Given the description of an element on the screen output the (x, y) to click on. 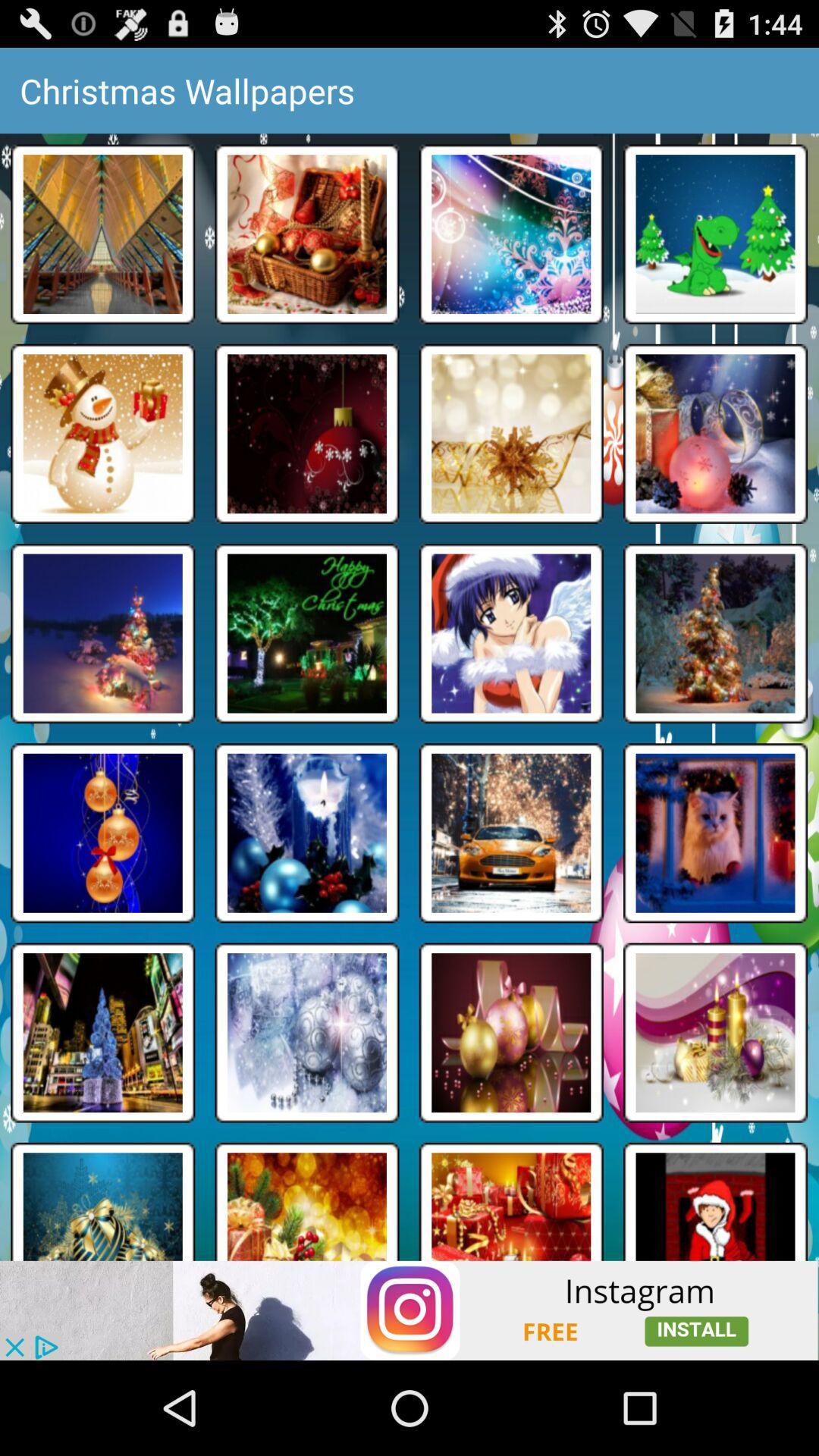
click on the wallpaper which has pink colored jingle bell in it (715, 433)
go to the fourteenth image (306, 833)
click the third box in first row (510, 234)
select the third row fourth image (715, 633)
go to second option in second row (306, 433)
select second image from first row (306, 234)
click on the image above santa claus (715, 1032)
